Given the description of an element on the screen output the (x, y) to click on. 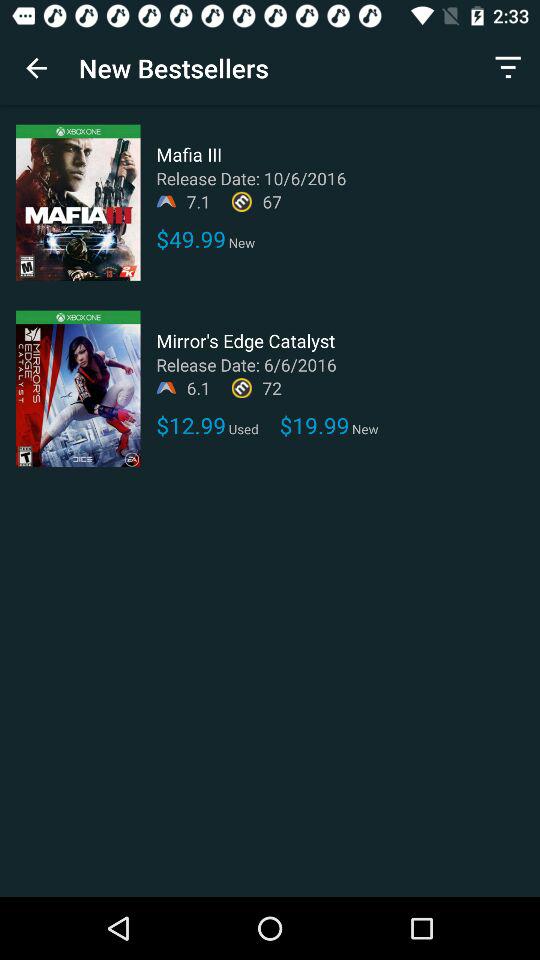
tap icon next to new bestsellers app (36, 68)
